Given the description of an element on the screen output the (x, y) to click on. 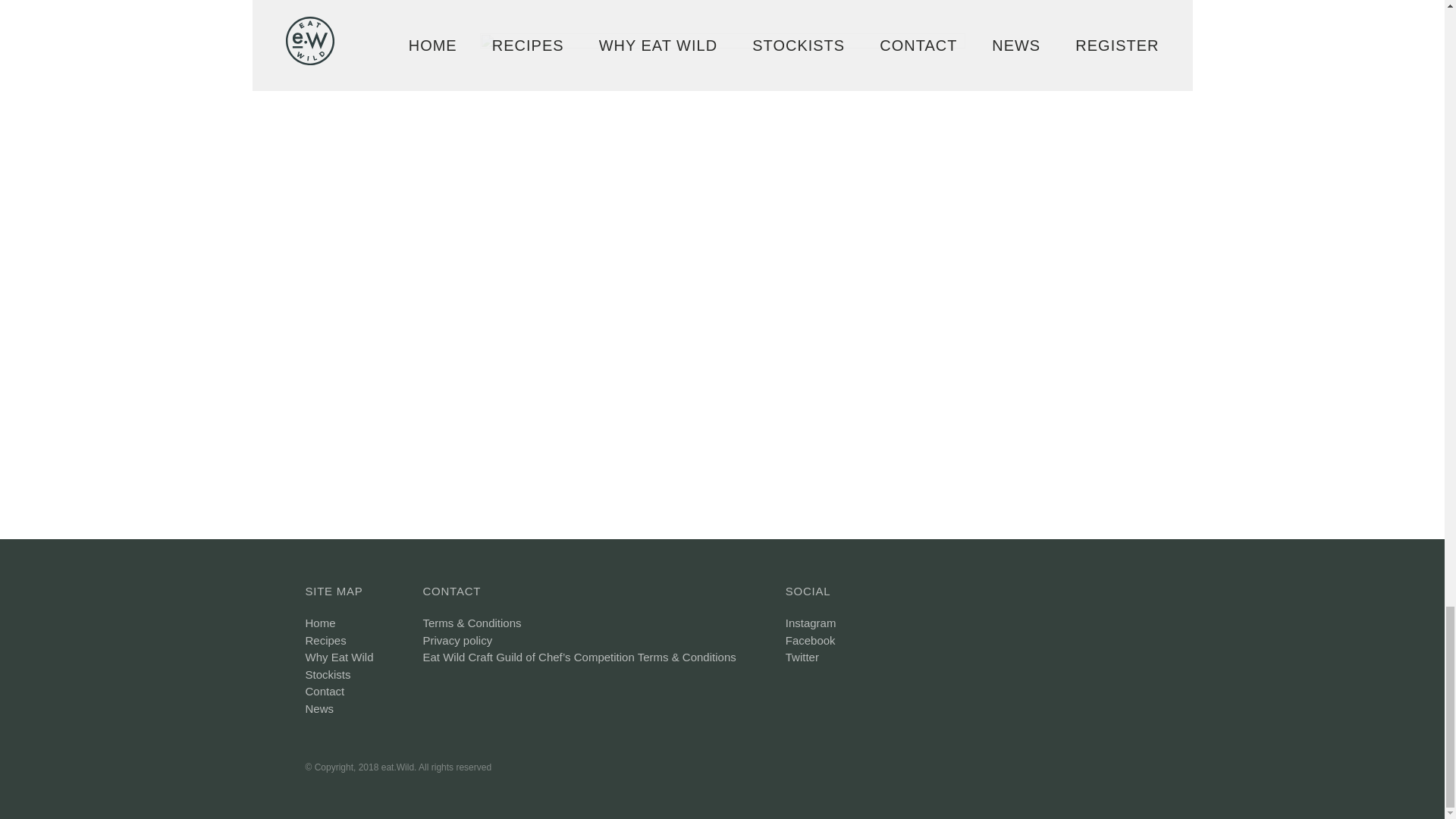
Instagram (810, 622)
Why Eat Wild (338, 656)
Facebook (810, 640)
Home (319, 622)
Twitter (802, 656)
Contact (323, 690)
Privacy policy (458, 640)
Stockists (327, 674)
News (318, 707)
Recipes (325, 640)
